Given the description of an element on the screen output the (x, y) to click on. 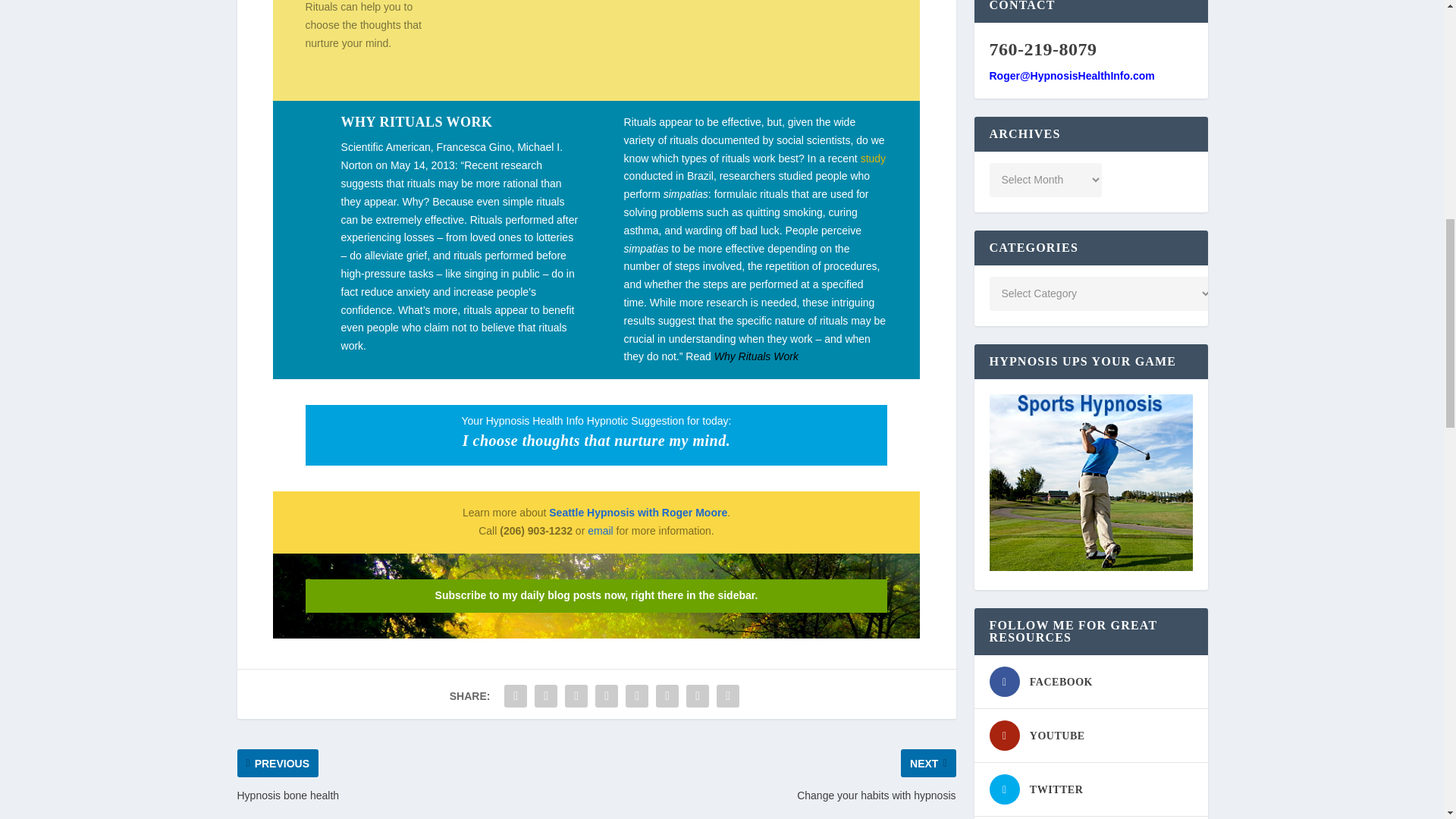
Share "Rituals Work" via Email (697, 695)
Share "Rituals Work" via Twitter (545, 695)
Share "Rituals Work" via Pinterest (636, 695)
Share "Rituals Work" via LinkedIn (667, 695)
Share "Rituals Work" via Print (727, 695)
Share "Rituals Work" via Tumblr (606, 695)
Share "Rituals Work" via Facebook (515, 695)
